Given the description of an element on the screen output the (x, y) to click on. 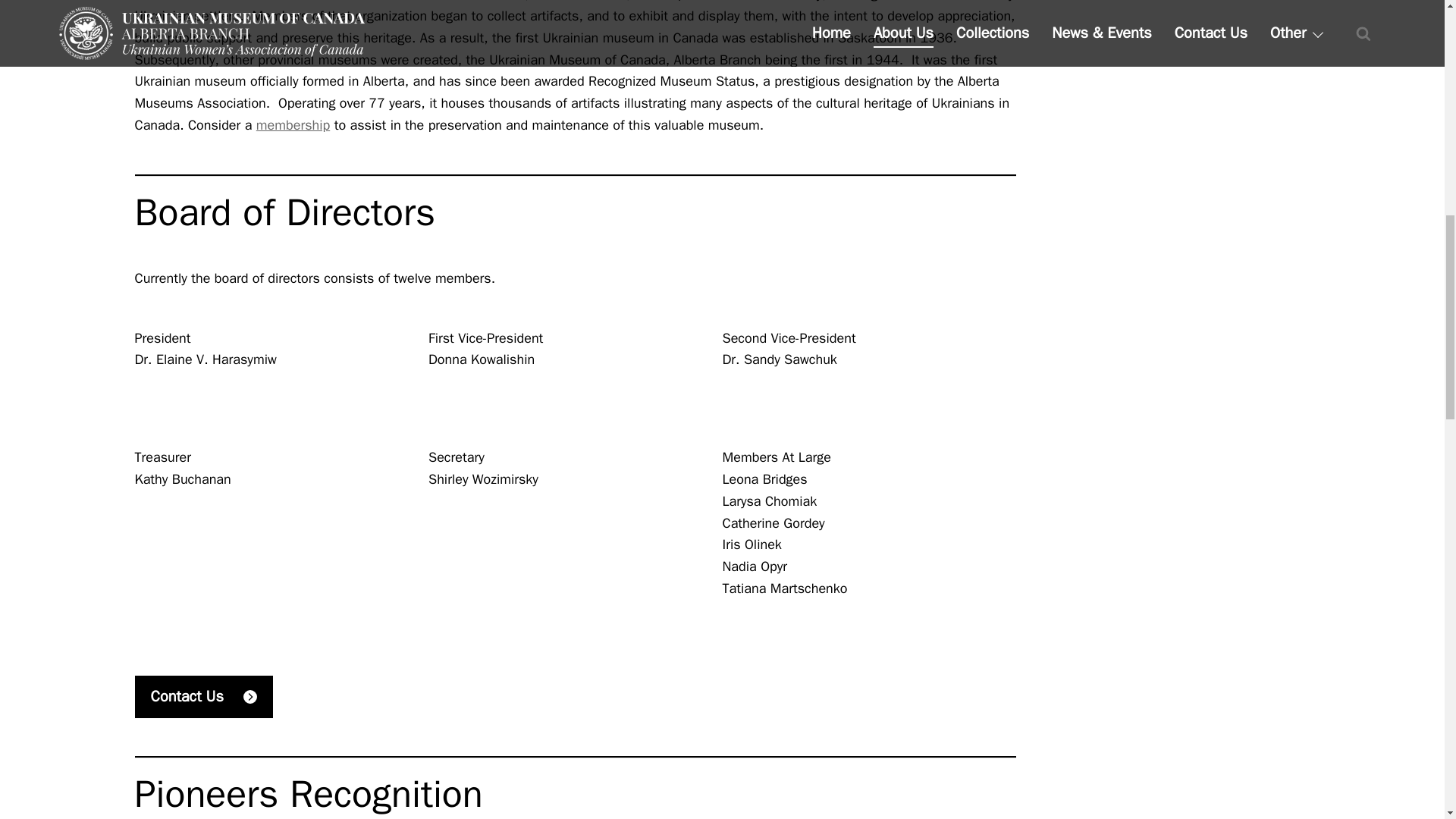
Contact Us (204, 696)
Contact Us (204, 696)
membership (293, 125)
